Given the description of an element on the screen output the (x, y) to click on. 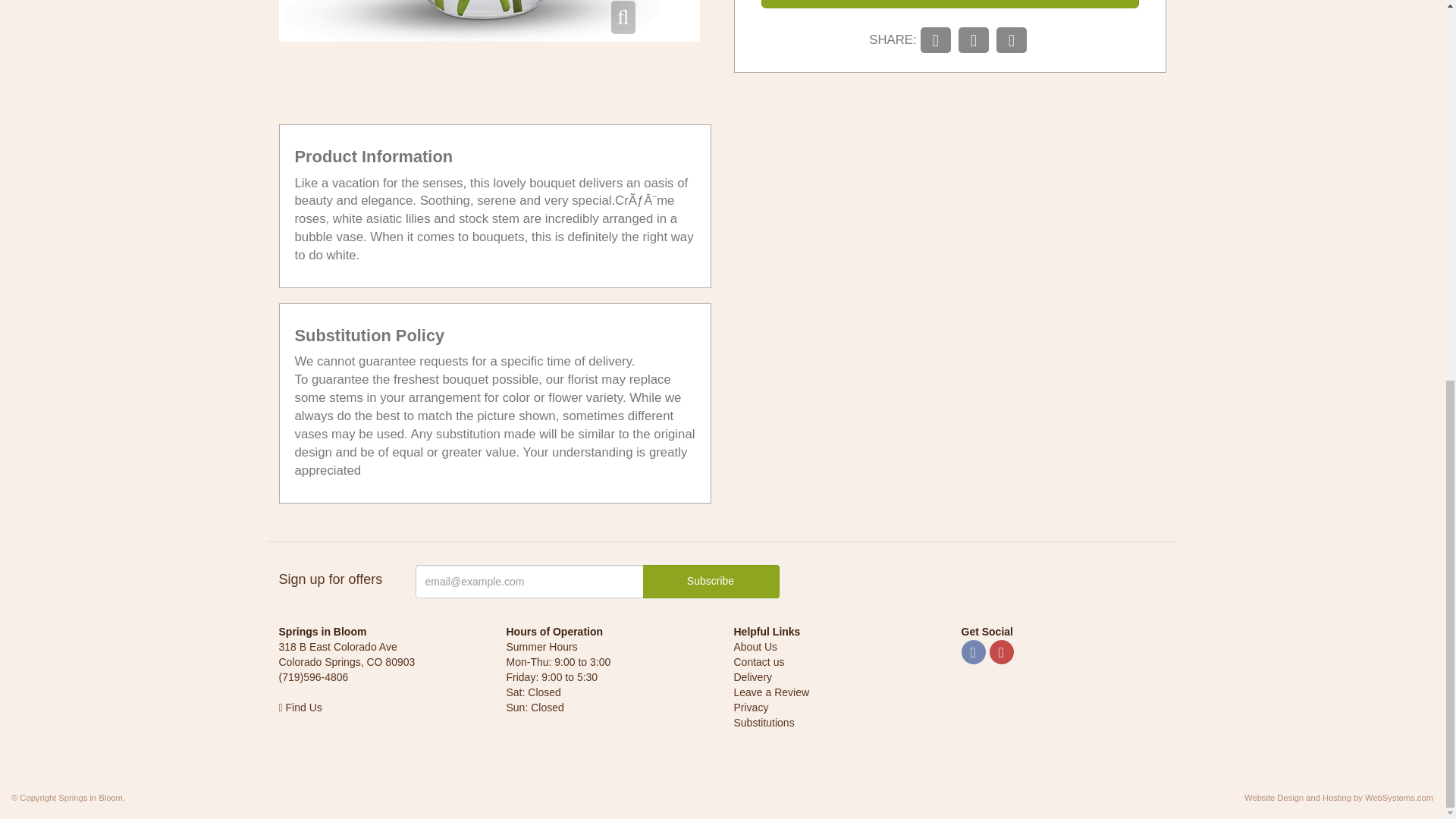
Leave a Review (771, 692)
About Us (755, 646)
Privacy (750, 707)
Substitutions (763, 722)
Website Design and Hosting by WebSystems.com (1338, 797)
Add to Cart (949, 4)
Find Us (300, 707)
Subscribe (710, 581)
Contact us (758, 662)
Delivery (753, 676)
Subscribe (710, 581)
